Given the description of an element on the screen output the (x, y) to click on. 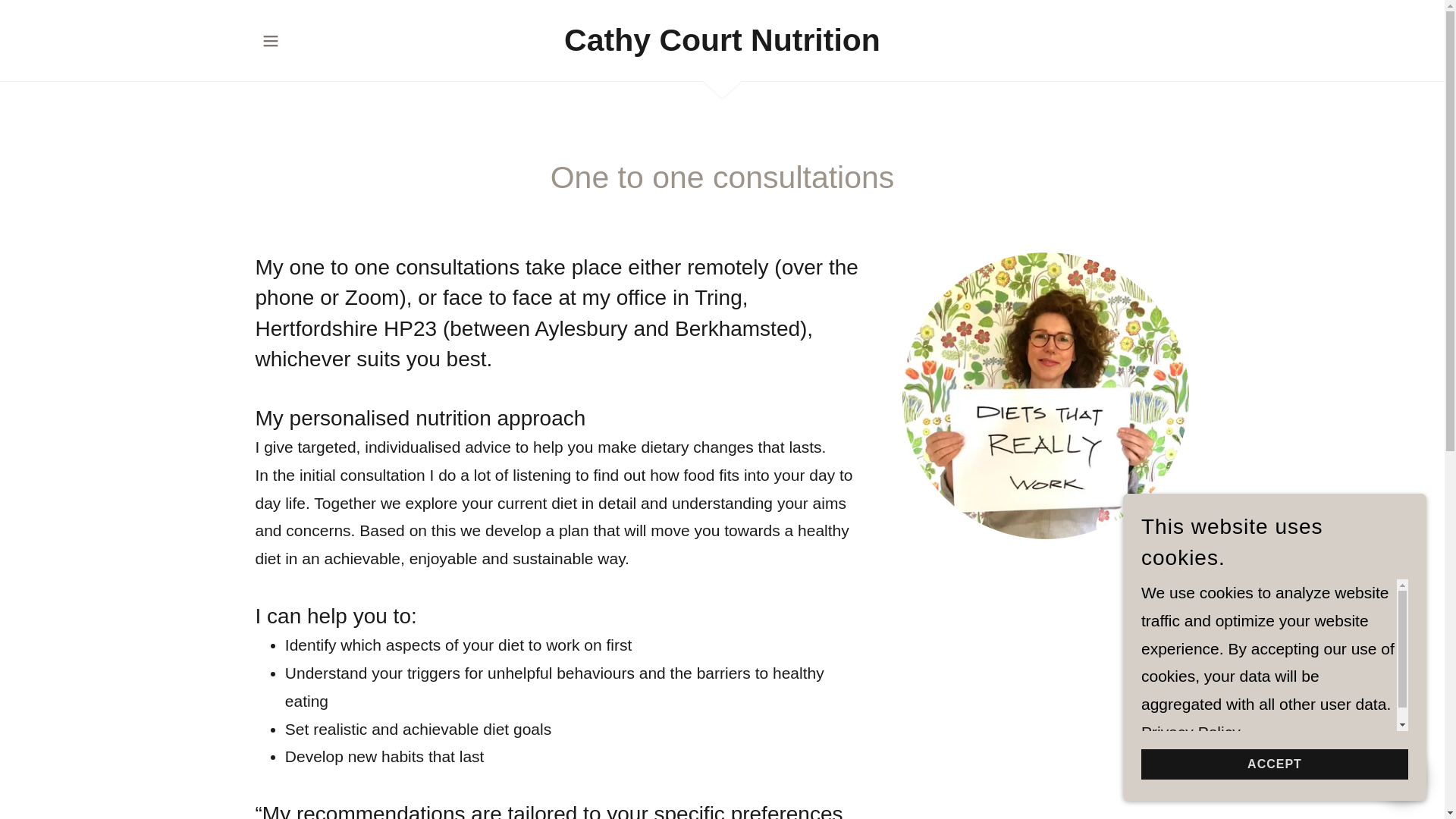
Cathy Court Nutrition (721, 45)
Cathy Court Nutrition (721, 45)
Privacy Policy (1190, 732)
ACCEPT (1274, 764)
